Given the description of an element on the screen output the (x, y) to click on. 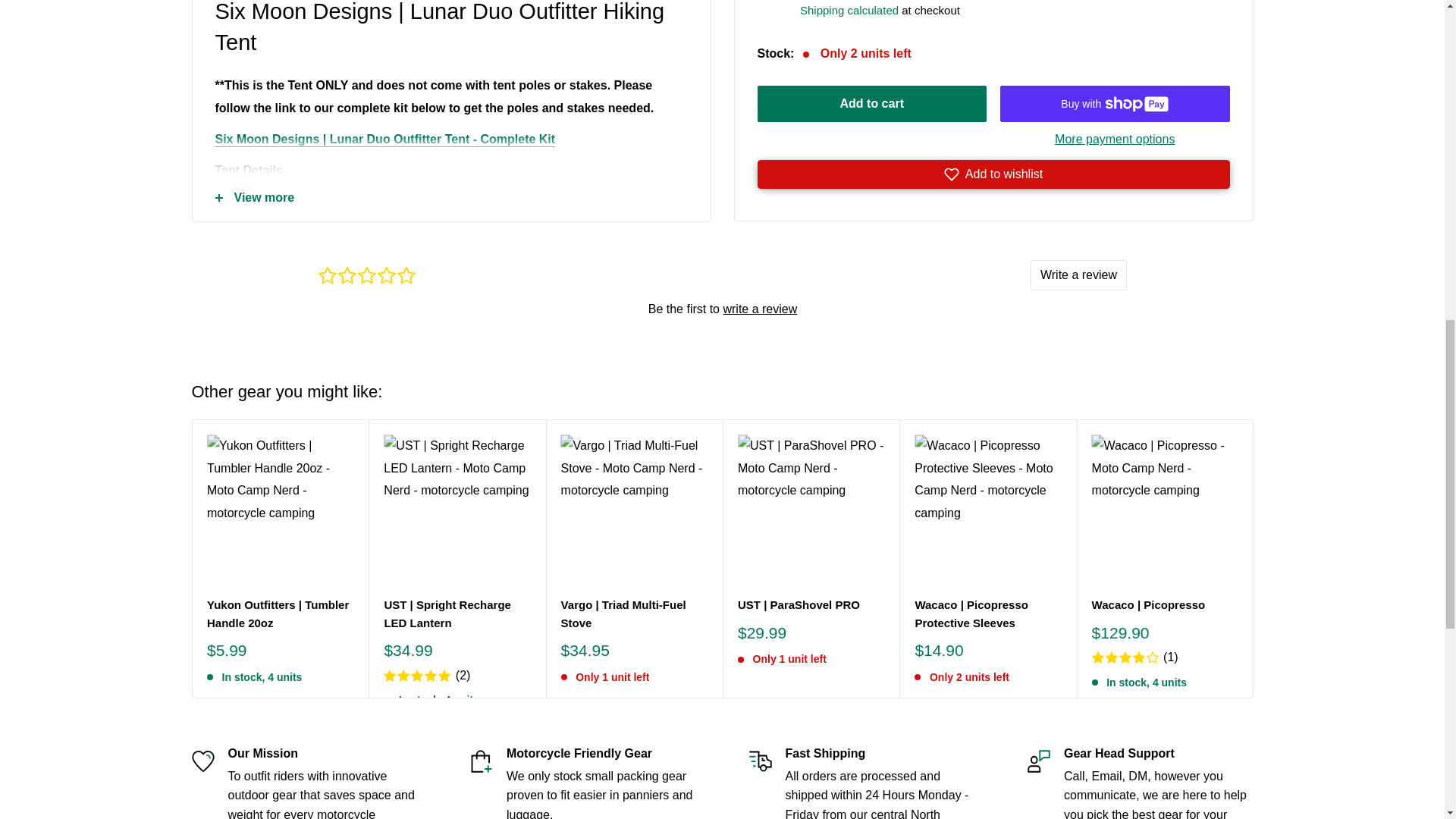
Product reviews widget (722, 288)
